Given the description of an element on the screen output the (x, y) to click on. 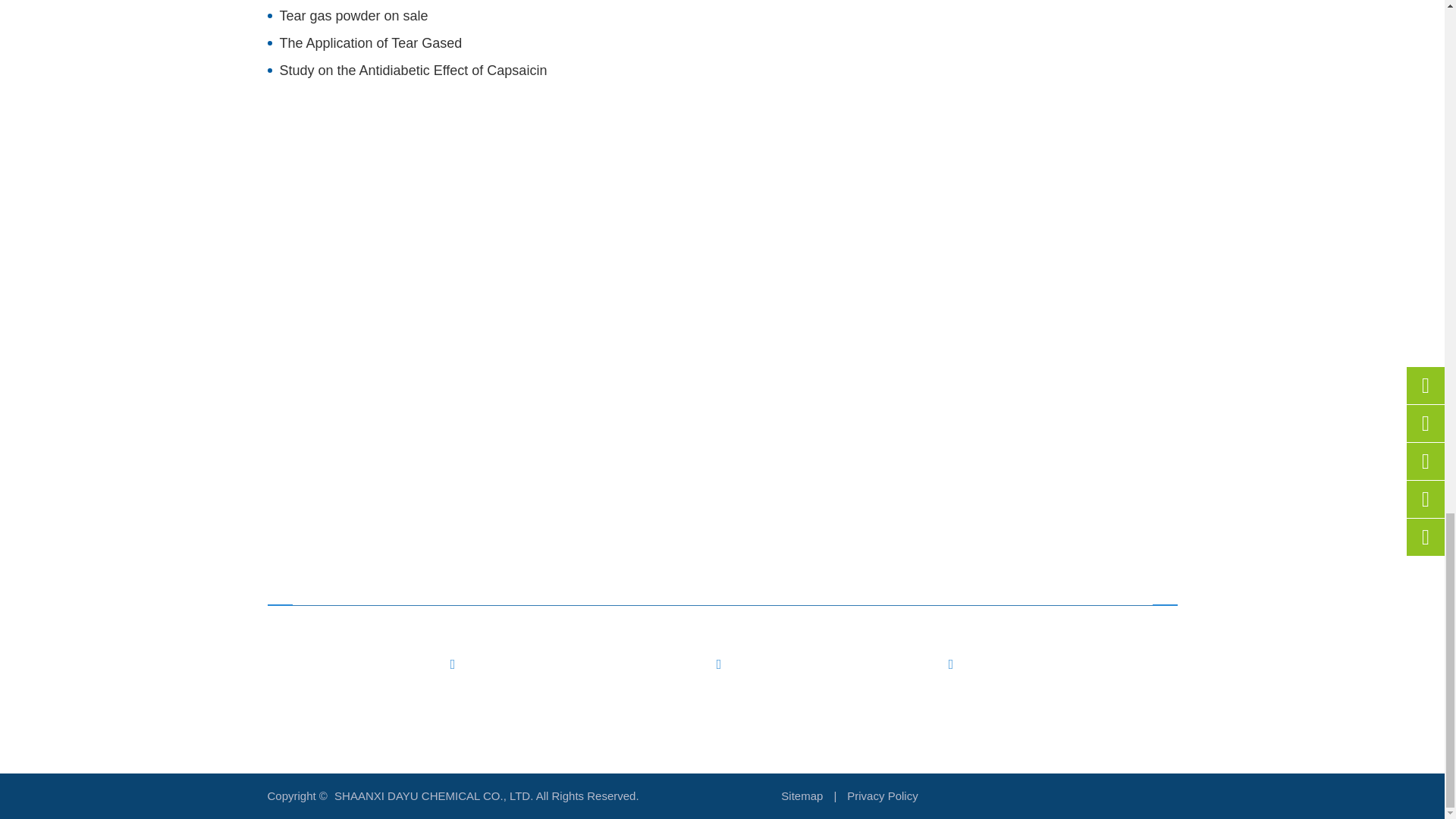
Tear gas powder on sale (566, 15)
